Given the description of an element on the screen output the (x, y) to click on. 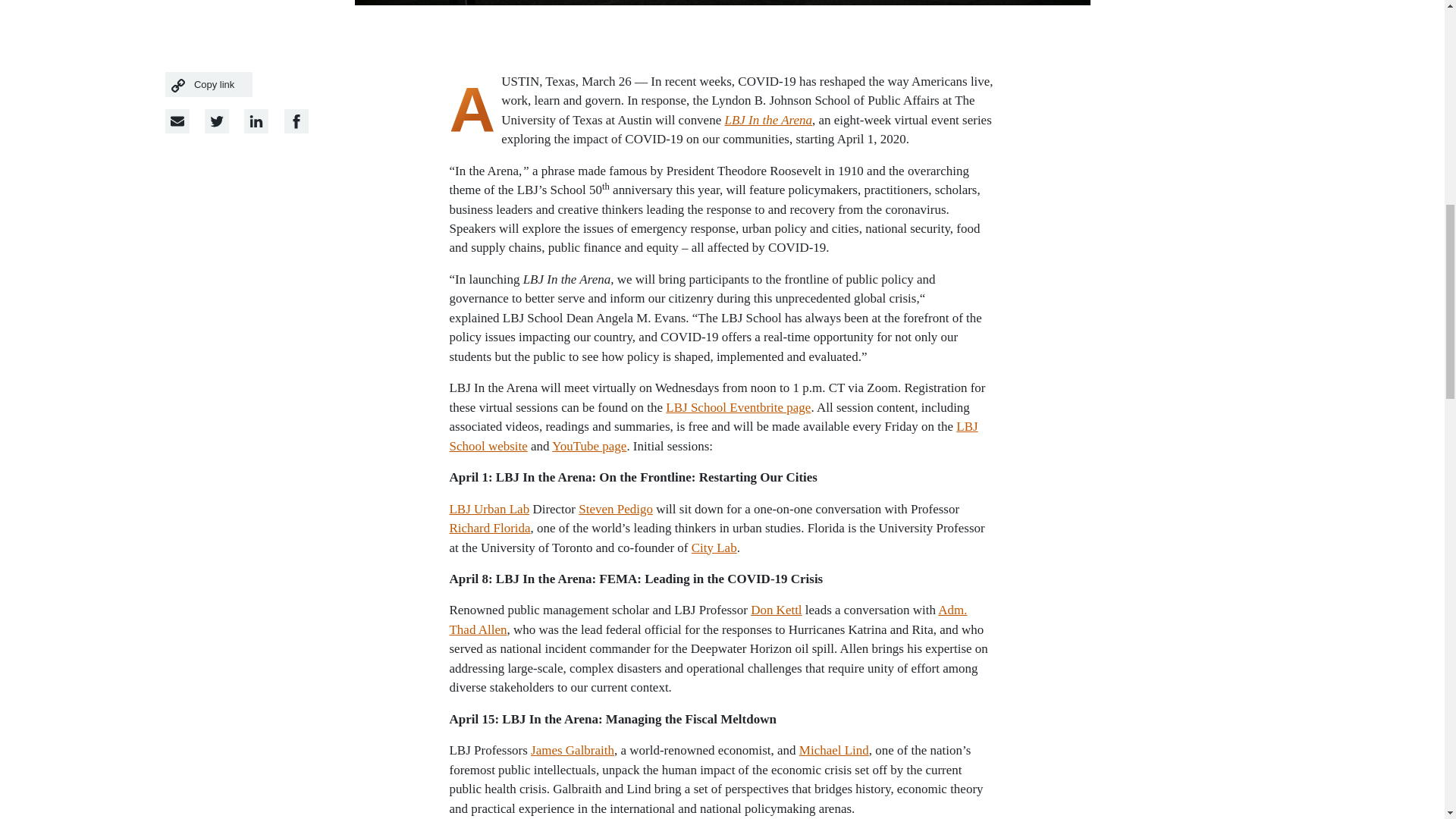
Steven Pedigo (615, 509)
Richard Florida (488, 527)
Don Kettl (776, 609)
LBJ School website (712, 435)
LBJ Urban Lab (488, 509)
City Lab (713, 547)
YouTube page (588, 445)
LBJ School Eventbrite page (737, 407)
LBJ In the Arena (767, 120)
